Given the description of an element on the screen output the (x, y) to click on. 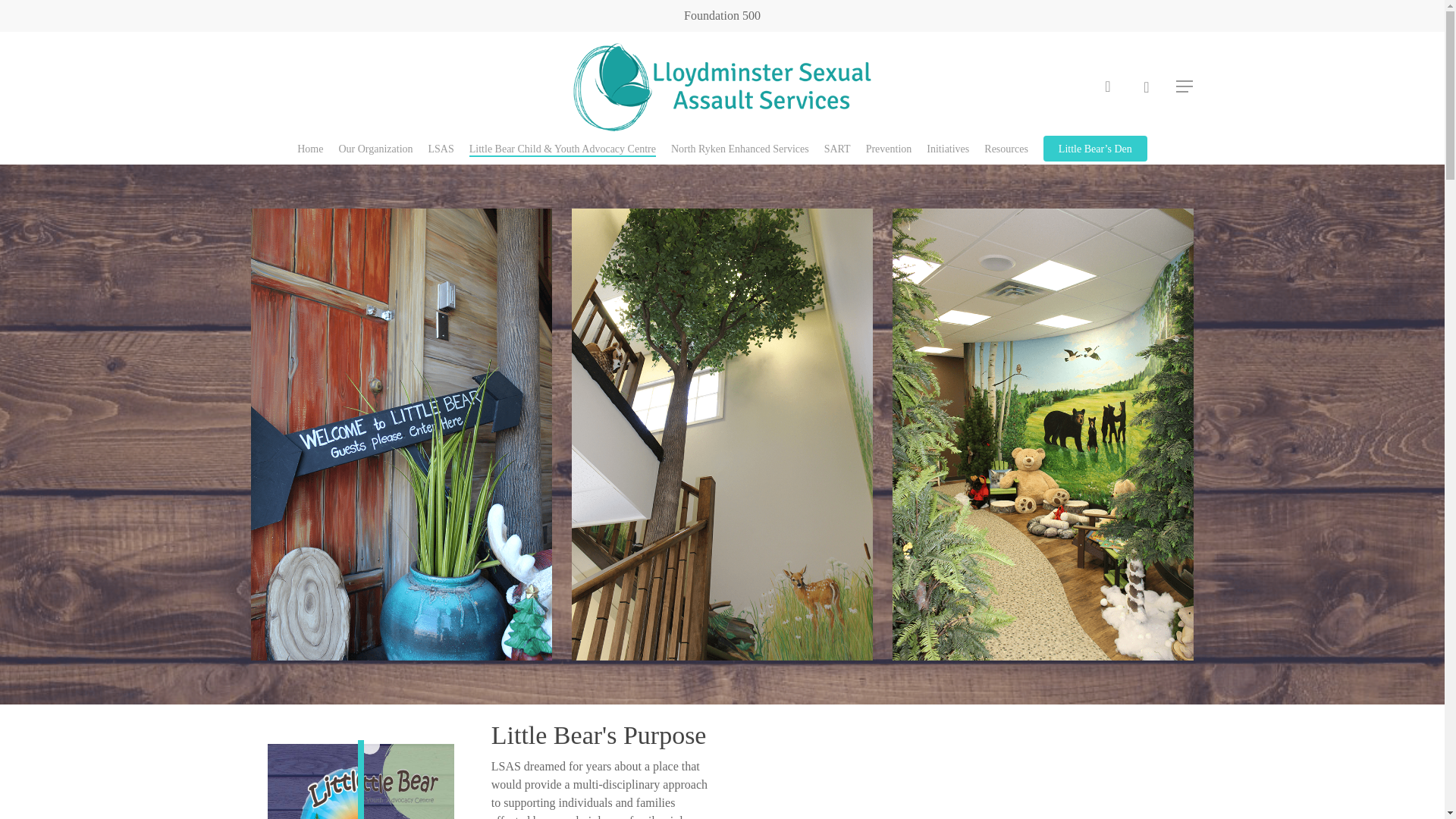
Our Organization (374, 149)
LSAS (441, 149)
North Ryken Enhanced Services (740, 149)
SART (837, 149)
Initiatives (947, 149)
Menu (1184, 86)
Prevention (889, 149)
Resources (1005, 149)
search (1107, 86)
Foundation 500 (722, 15)
Home (310, 149)
